Given the description of an element on the screen output the (x, y) to click on. 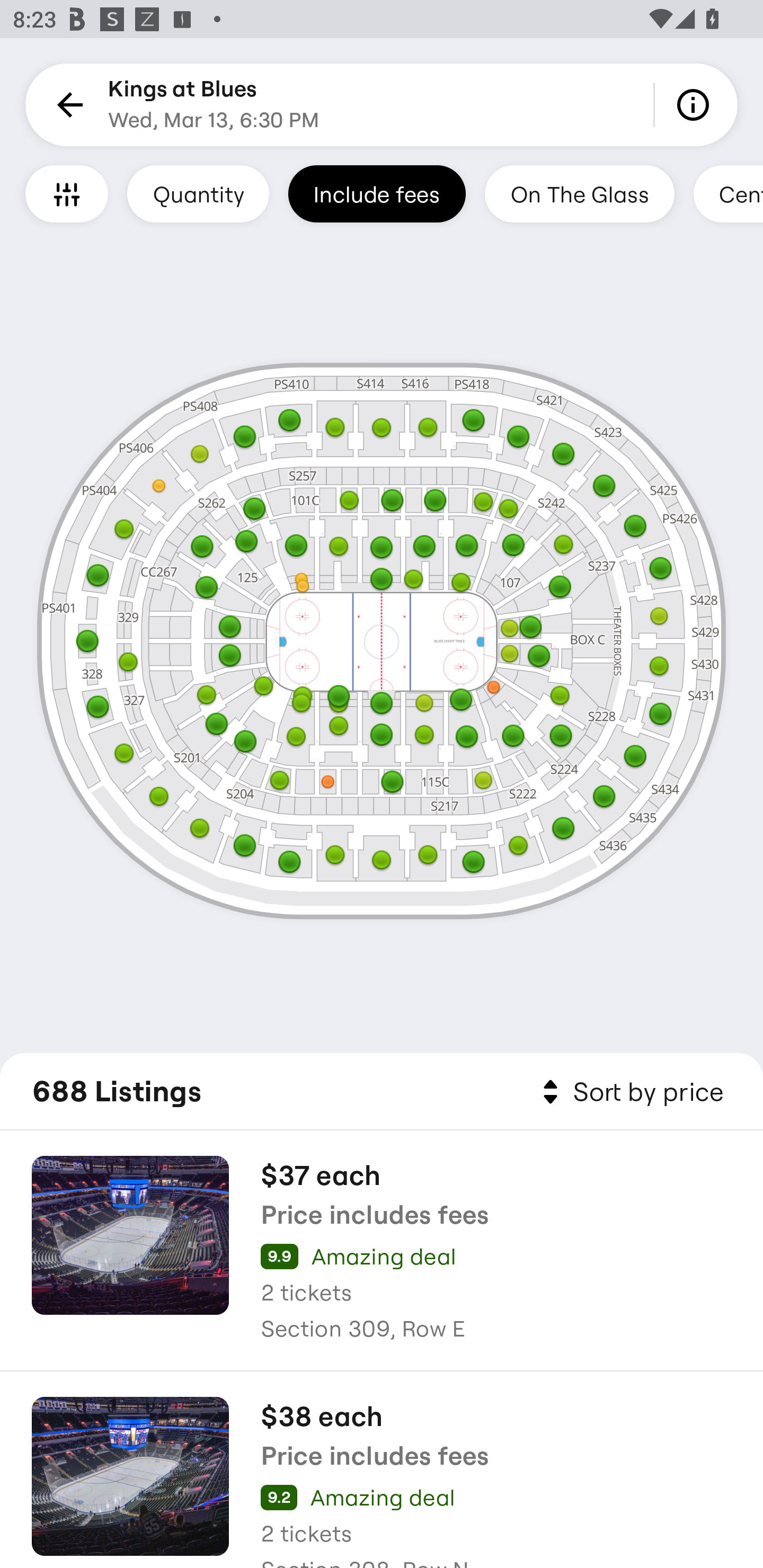
Back (66, 104)
Kings at Blues Wed, Mar 13, 6:30 PM (213, 104)
Info (695, 104)
Filters and Accessible Seating (66, 193)
Quantity (198, 193)
Include fees (376, 193)
On The Glass (579, 193)
Sort by price (629, 1091)
